Given the description of an element on the screen output the (x, y) to click on. 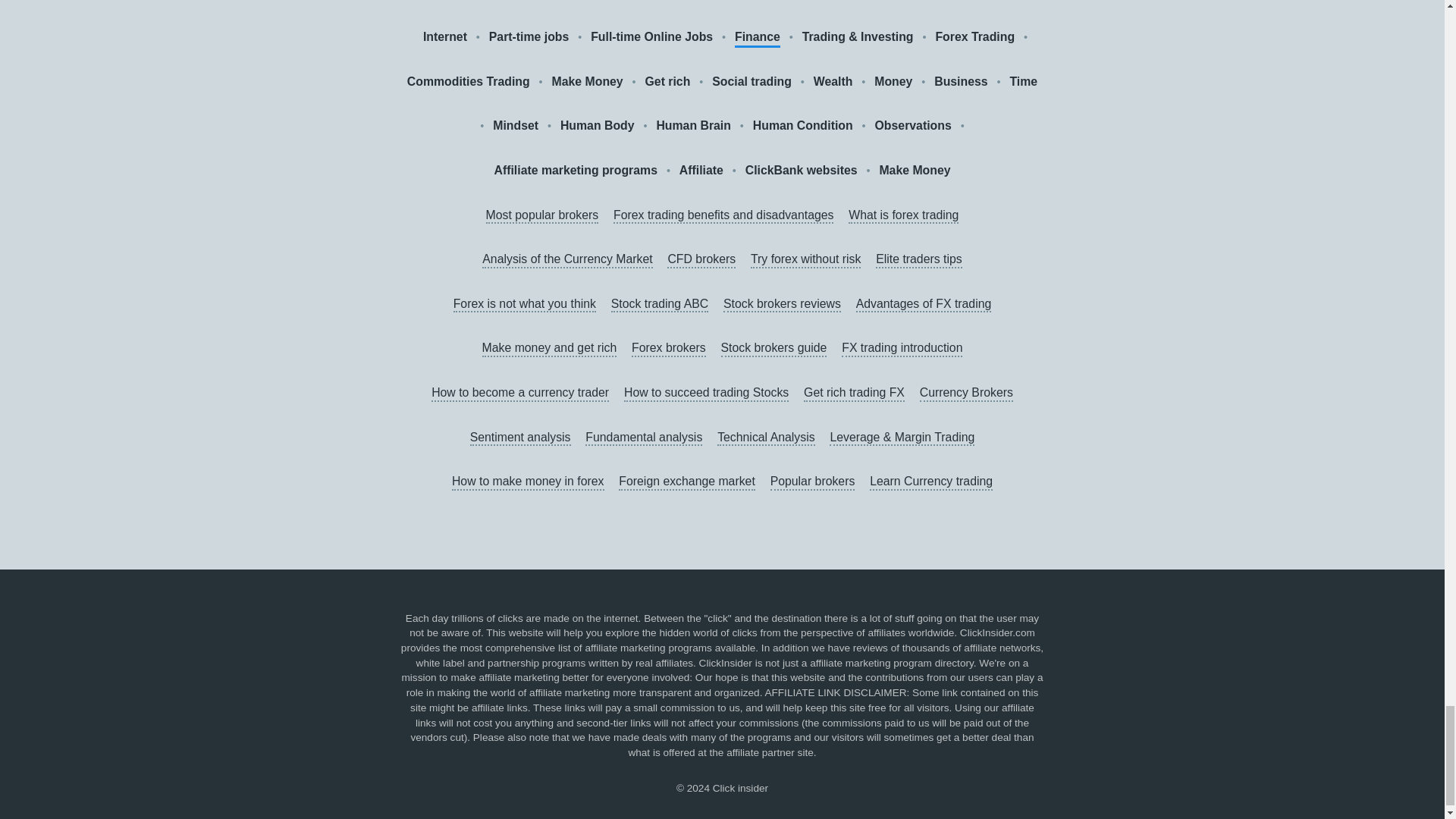
Extra income (855, 1)
Wealth (833, 81)
Full-time Online Jobs (652, 36)
Get rich slowly (620, 1)
Internet (445, 36)
Get rich (667, 81)
Money (893, 81)
Forex Trading (974, 36)
Blog (993, 1)
Make money online (740, 1)
